Given the description of an element on the screen output the (x, y) to click on. 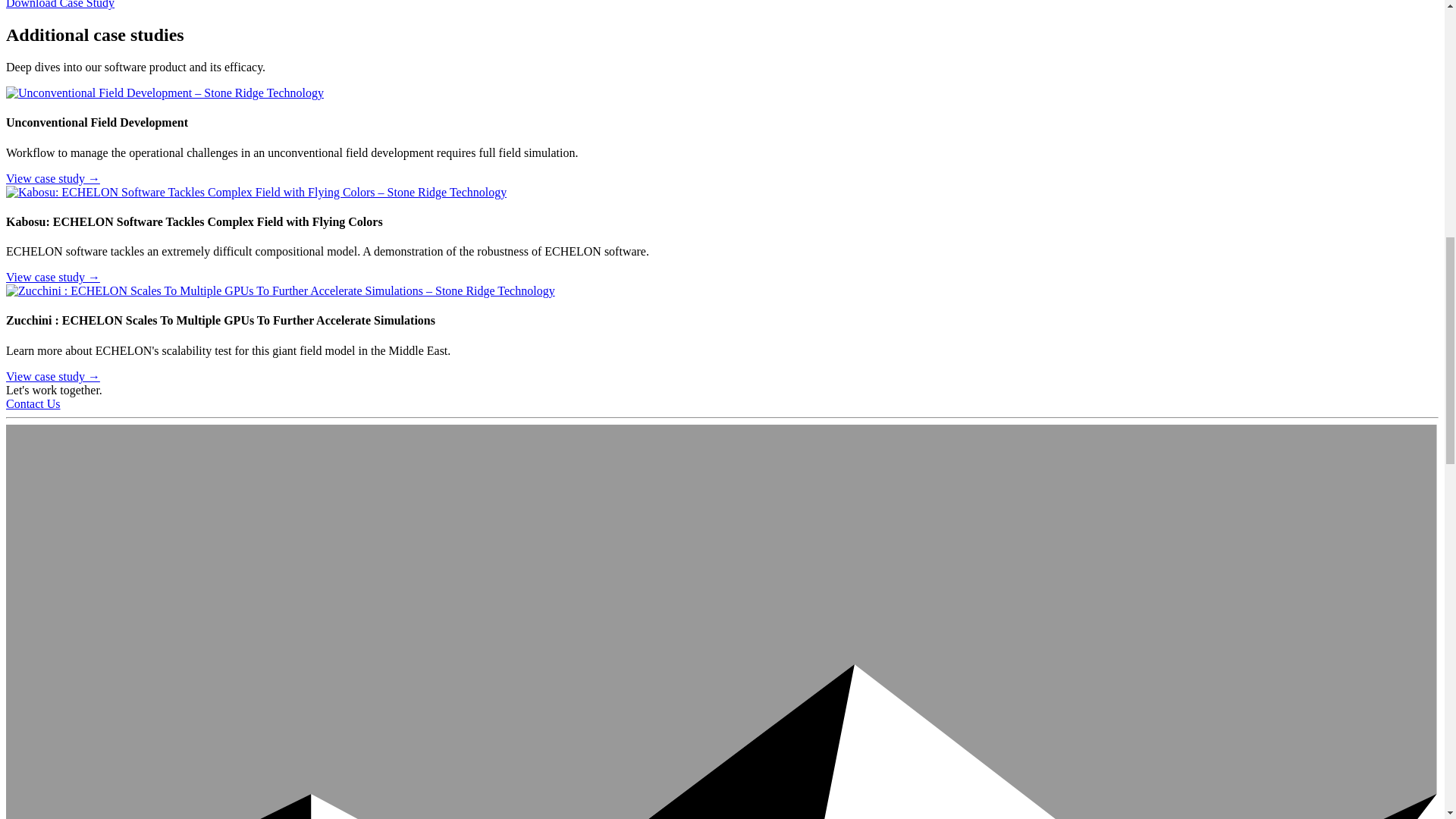
Download Case Study (60, 4)
Contact Us (33, 403)
